Given the description of an element on the screen output the (x, y) to click on. 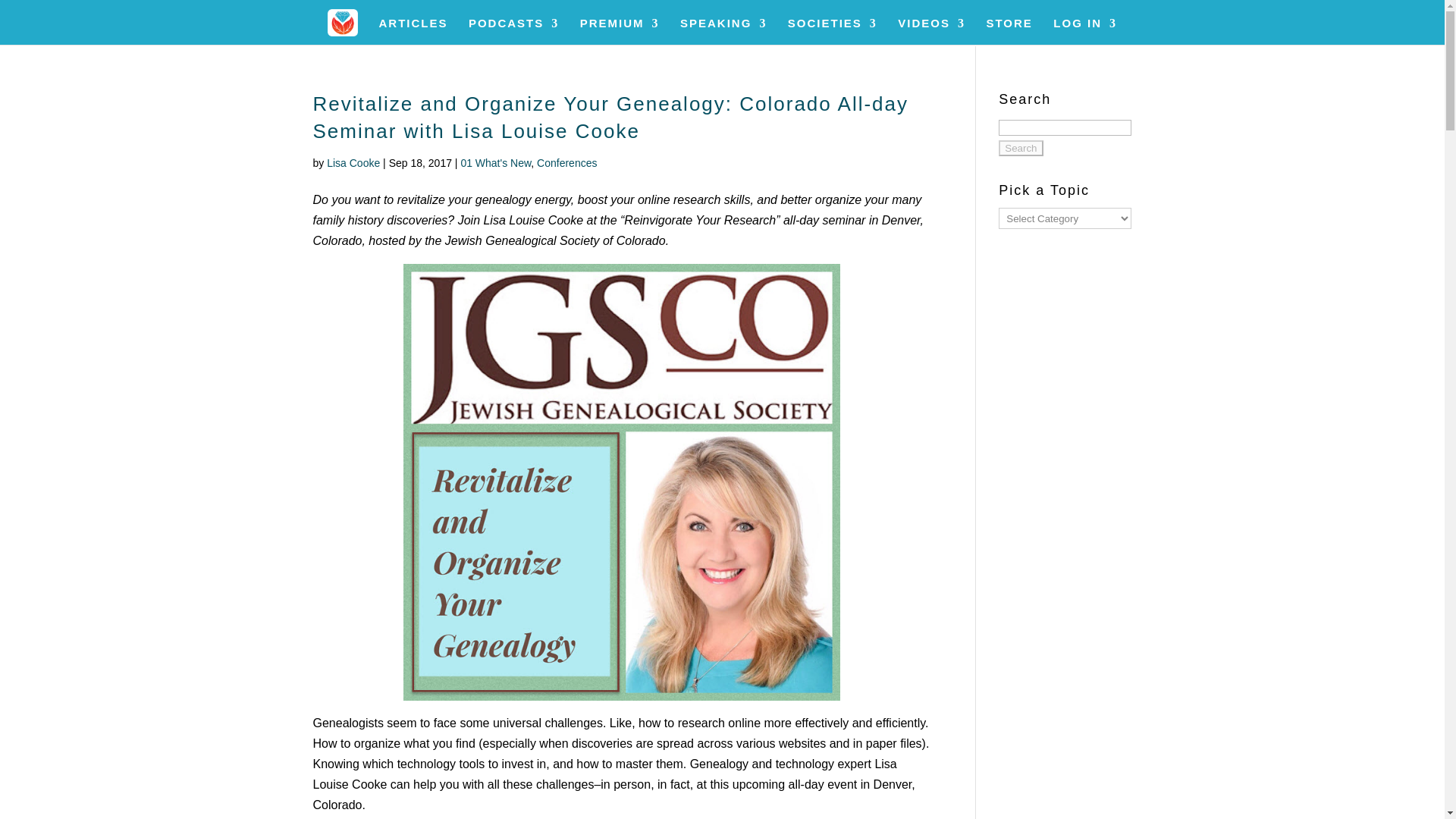
SOCIETIES (832, 31)
ARTICLES (412, 31)
PREMIUM (619, 31)
Search (1020, 148)
Login (1115, 250)
Posts by Lisa Cooke (353, 162)
VIDEOS (931, 31)
SPEAKING (723, 31)
STORE (1008, 31)
LOG IN (1084, 31)
Watch free genealogy videos (931, 31)
PODCASTS (513, 31)
